Given the description of an element on the screen output the (x, y) to click on. 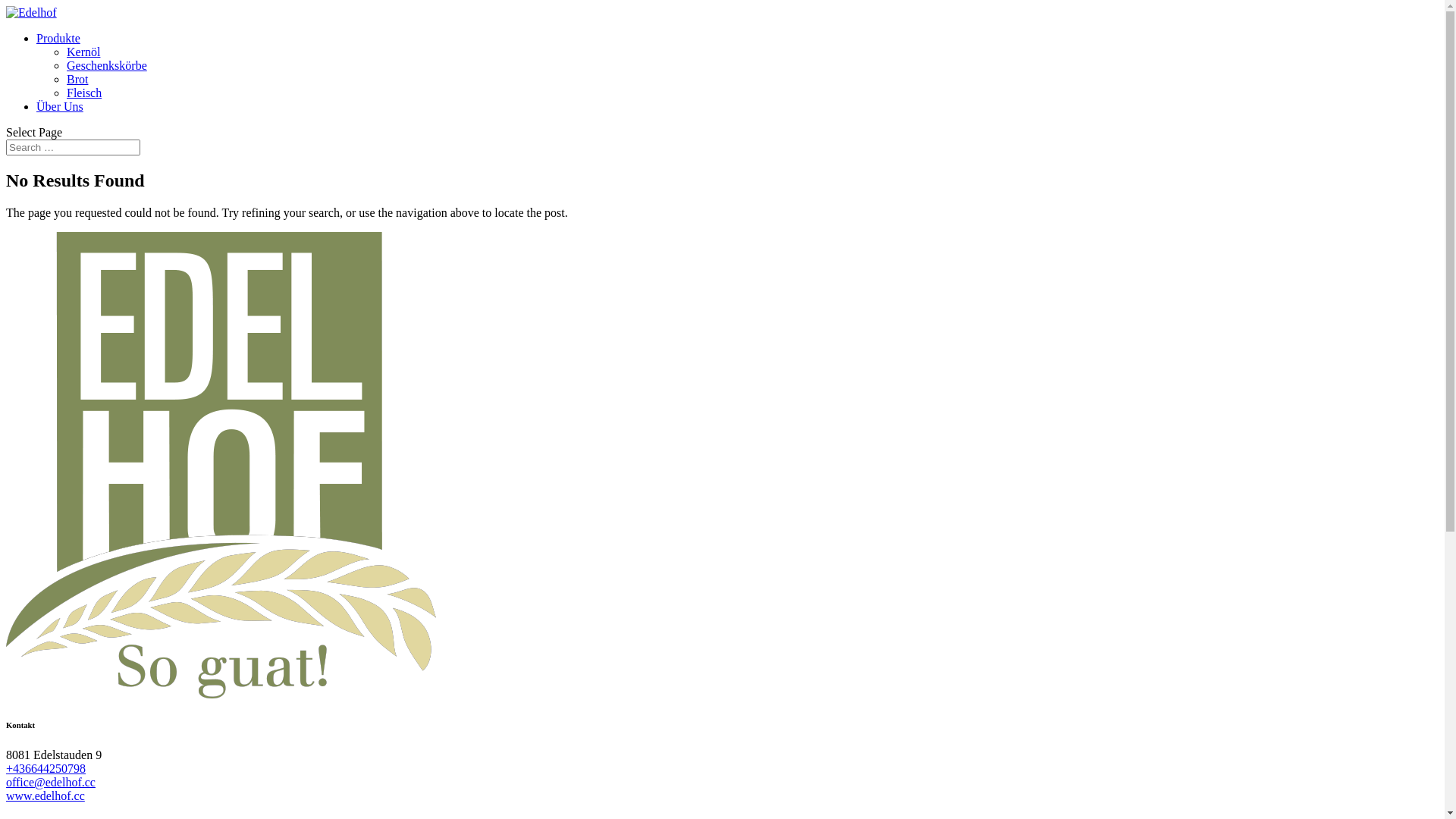
Search for: Element type: hover (73, 147)
logo Element type: hover (221, 465)
www.edelhof.cc Element type: text (45, 795)
office@edelhof.cc Element type: text (50, 781)
Fleisch Element type: text (83, 92)
+436644250798 Element type: text (45, 768)
Produkte Element type: text (58, 37)
Brot Element type: text (76, 78)
